Given the description of an element on the screen output the (x, y) to click on. 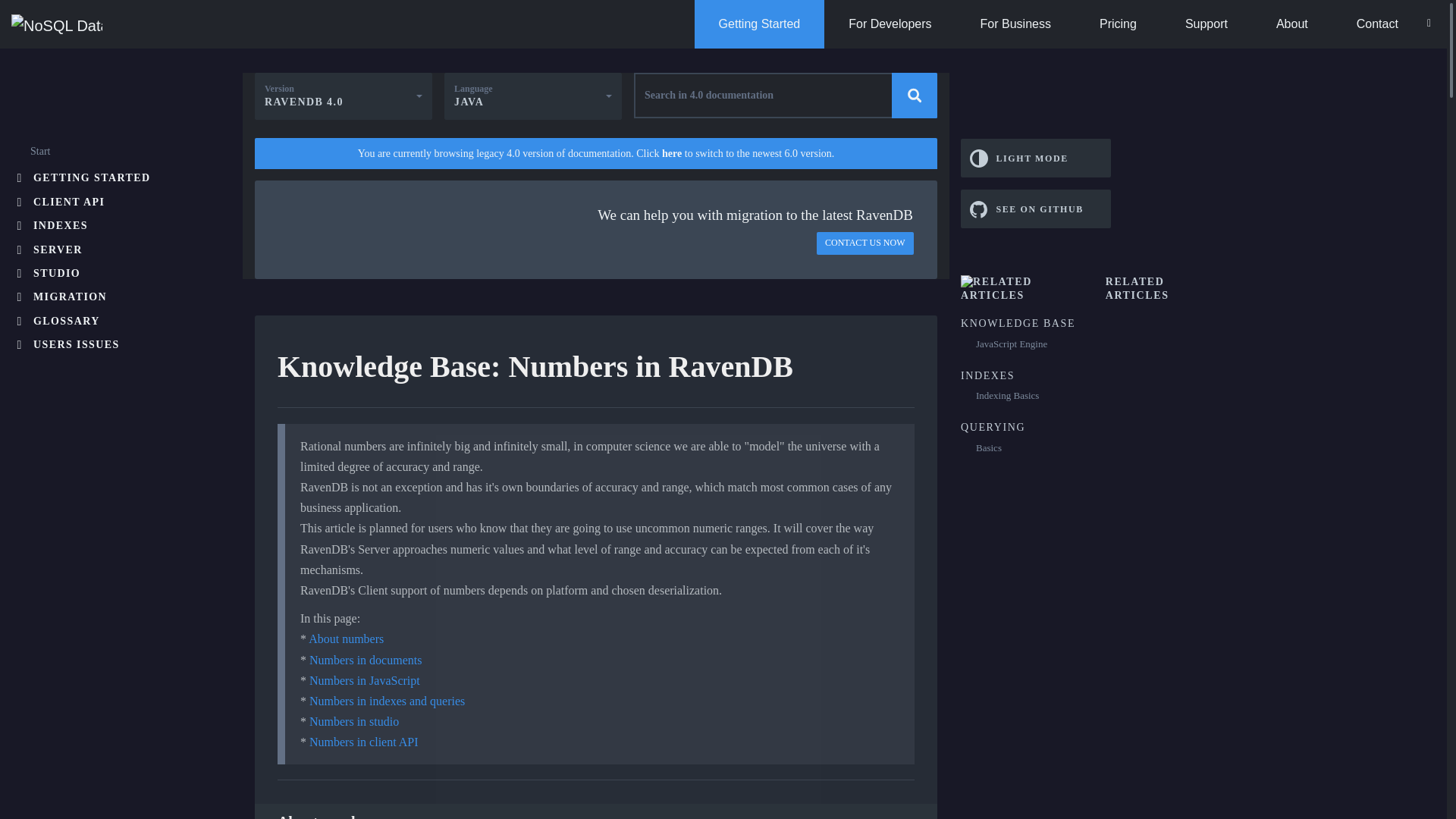
NoSQL Database (56, 23)
